Given the description of an element on the screen output the (x, y) to click on. 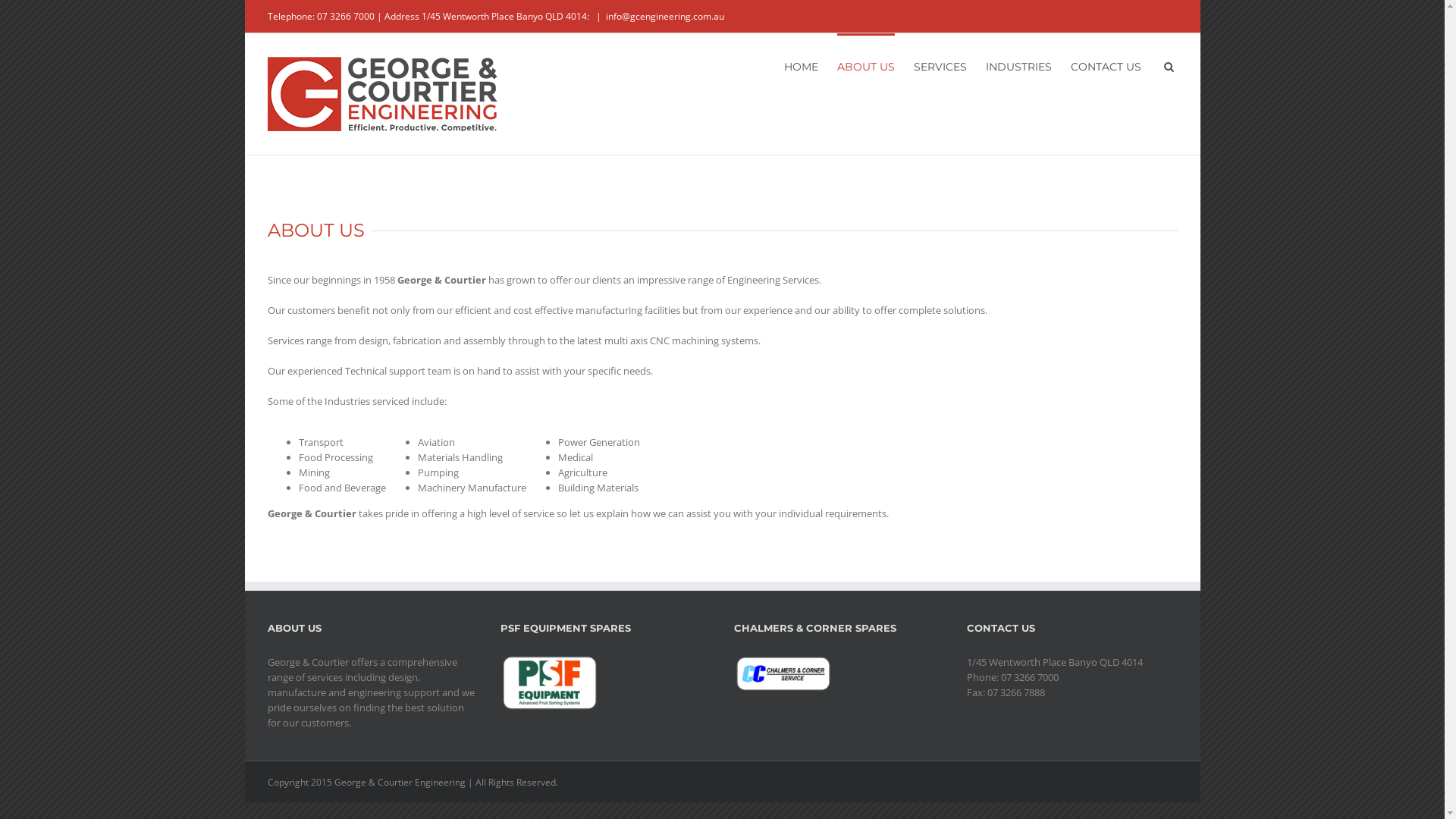
ABOUT US Element type: text (865, 65)
HOME Element type: text (801, 65)
CONTACT US Element type: text (1105, 65)
SERVICES Element type: text (939, 65)
INDUSTRIES Element type: text (1018, 65)
info@gcengineering.com.au Element type: text (664, 15)
